Given the description of an element on the screen output the (x, y) to click on. 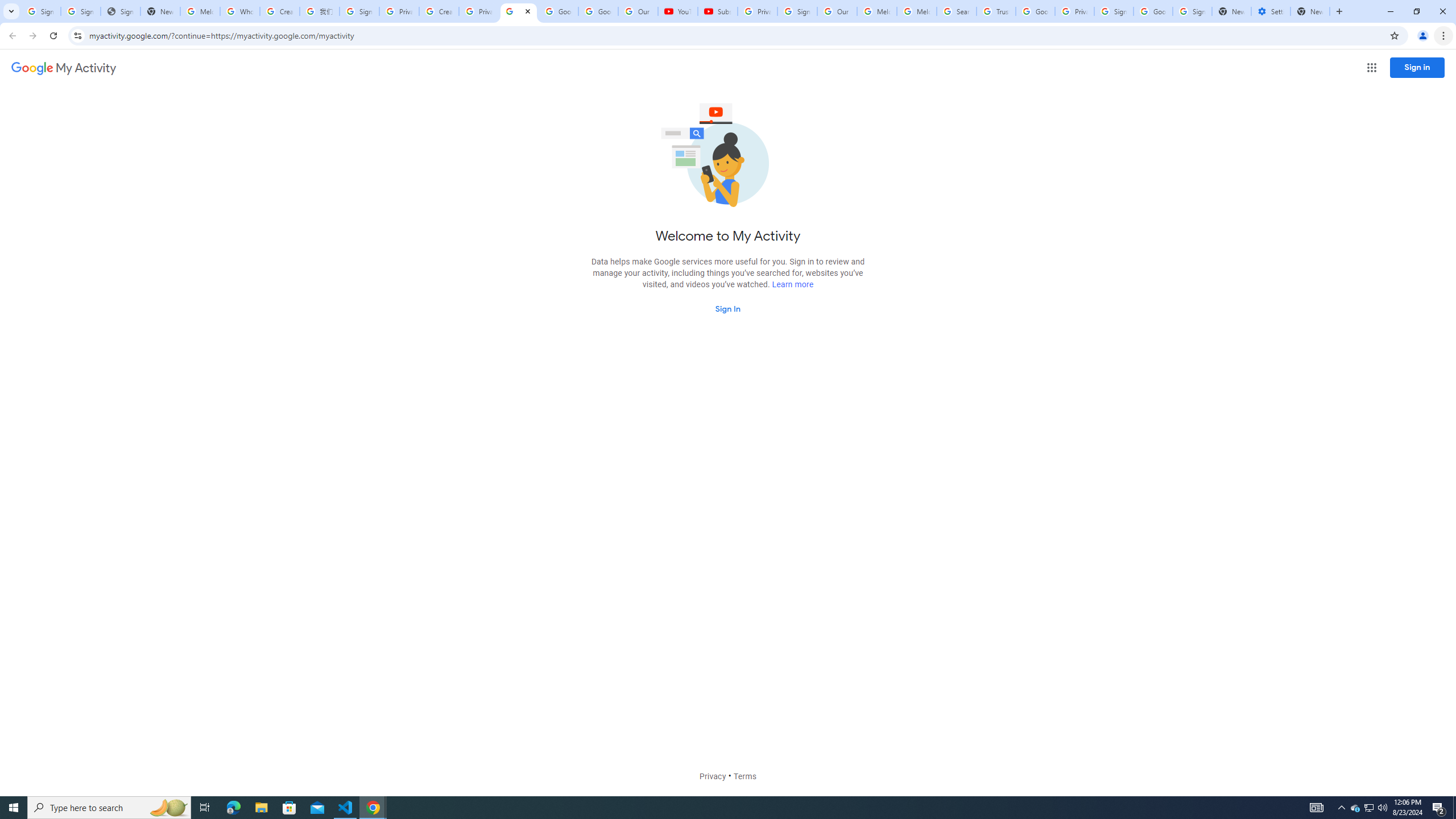
Sign in - Google Accounts (1113, 11)
Google Cybersecurity Innovations - Google Safety Center (1152, 11)
Search our Doodle Library Collection - Google Doodles (956, 11)
Sign in - Google Accounts (80, 11)
New Tab (1310, 11)
